Given the description of an element on the screen output the (x, y) to click on. 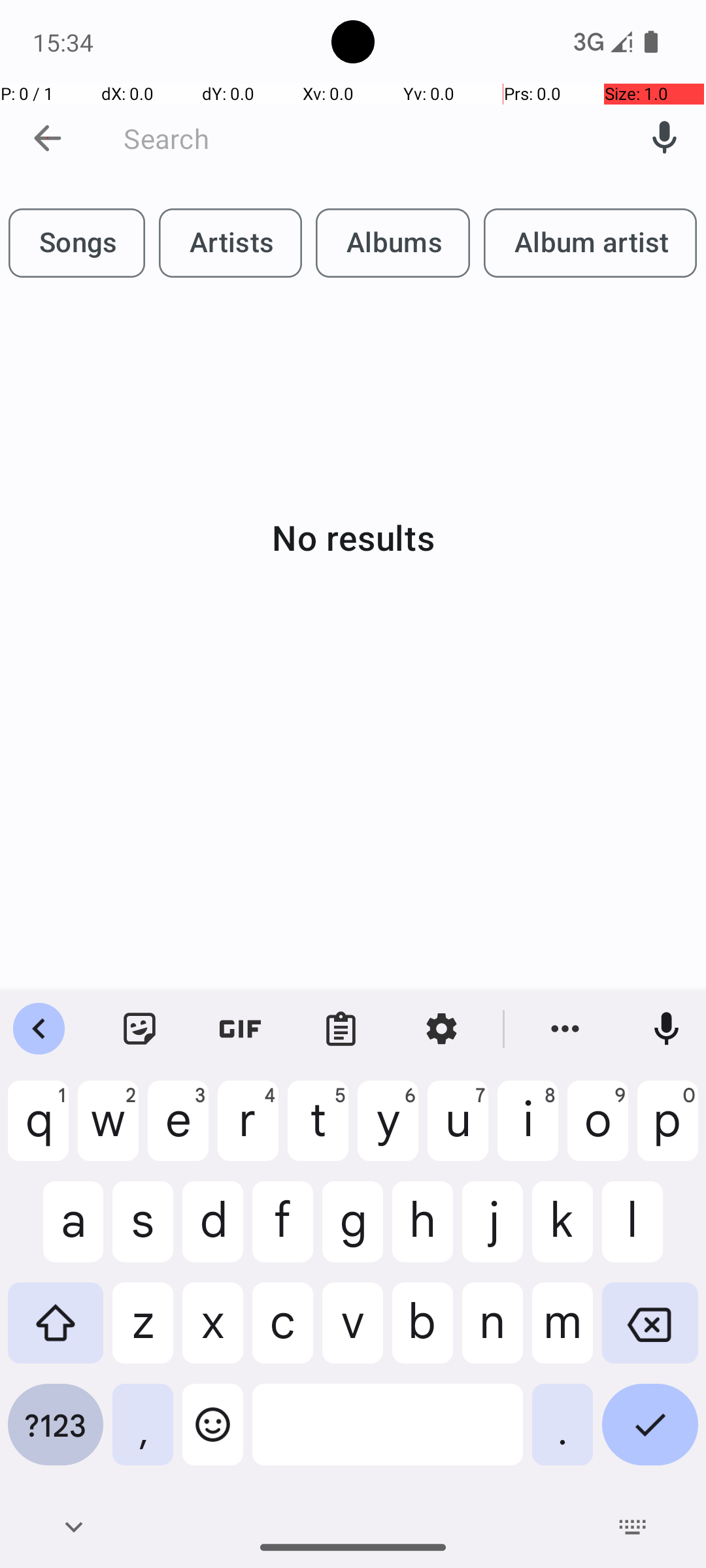
No results Element type: android.widget.TextView (352, 537)
Album artist Element type: android.widget.RadioButton (589, 242)
